Given the description of an element on the screen output the (x, y) to click on. 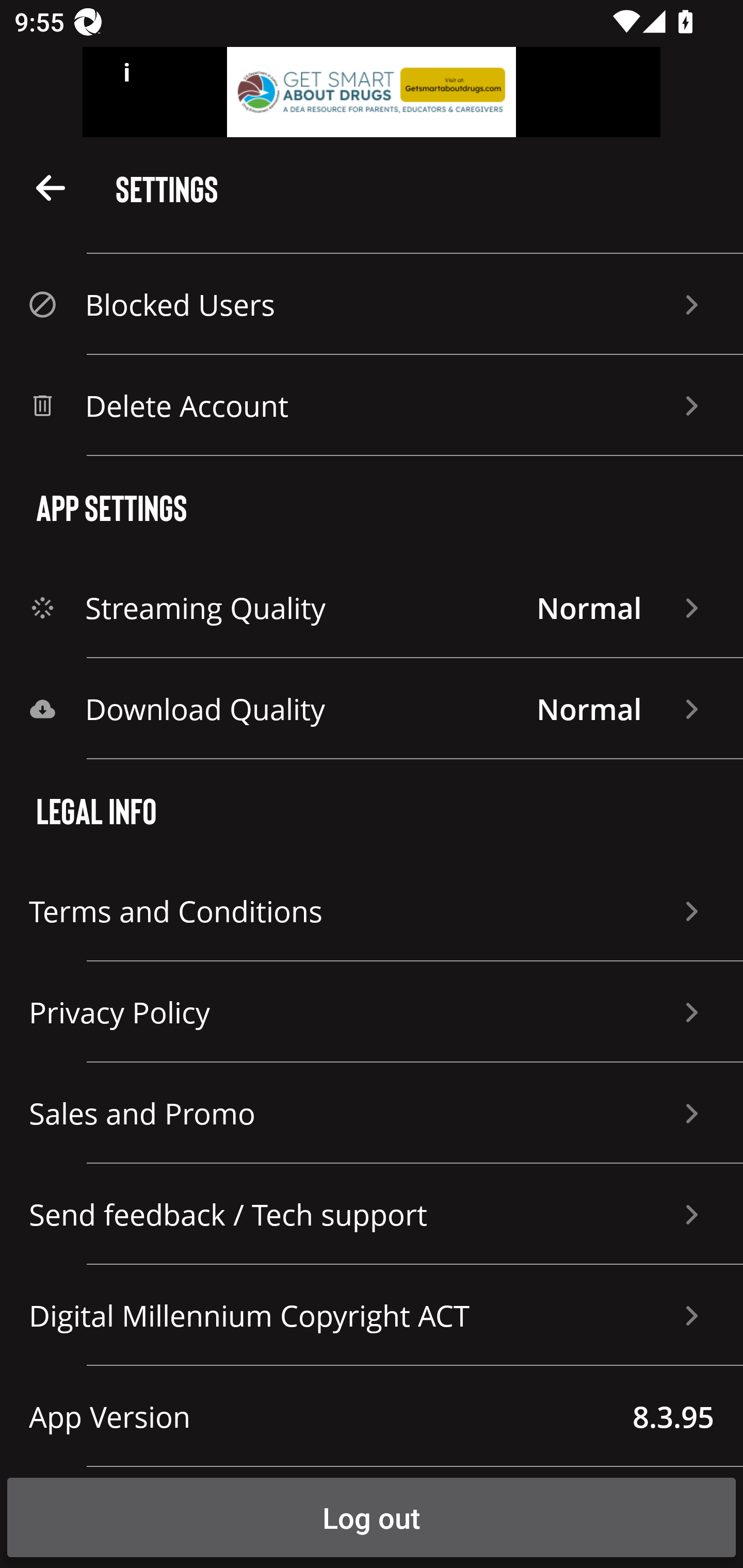
Description (50, 187)
Blocked Users (371, 304)
Delete Account (371, 405)
Streaming Quality Normal (371, 607)
Download Quality Normal (371, 708)
Terms and Conditions (371, 910)
Privacy Policy (371, 1012)
Sales and Promo (371, 1113)
Send feedback / Tech support (371, 1214)
Digital Millennium Copyright ACT (371, 1315)
Log out (371, 1517)
